Given the description of an element on the screen output the (x, y) to click on. 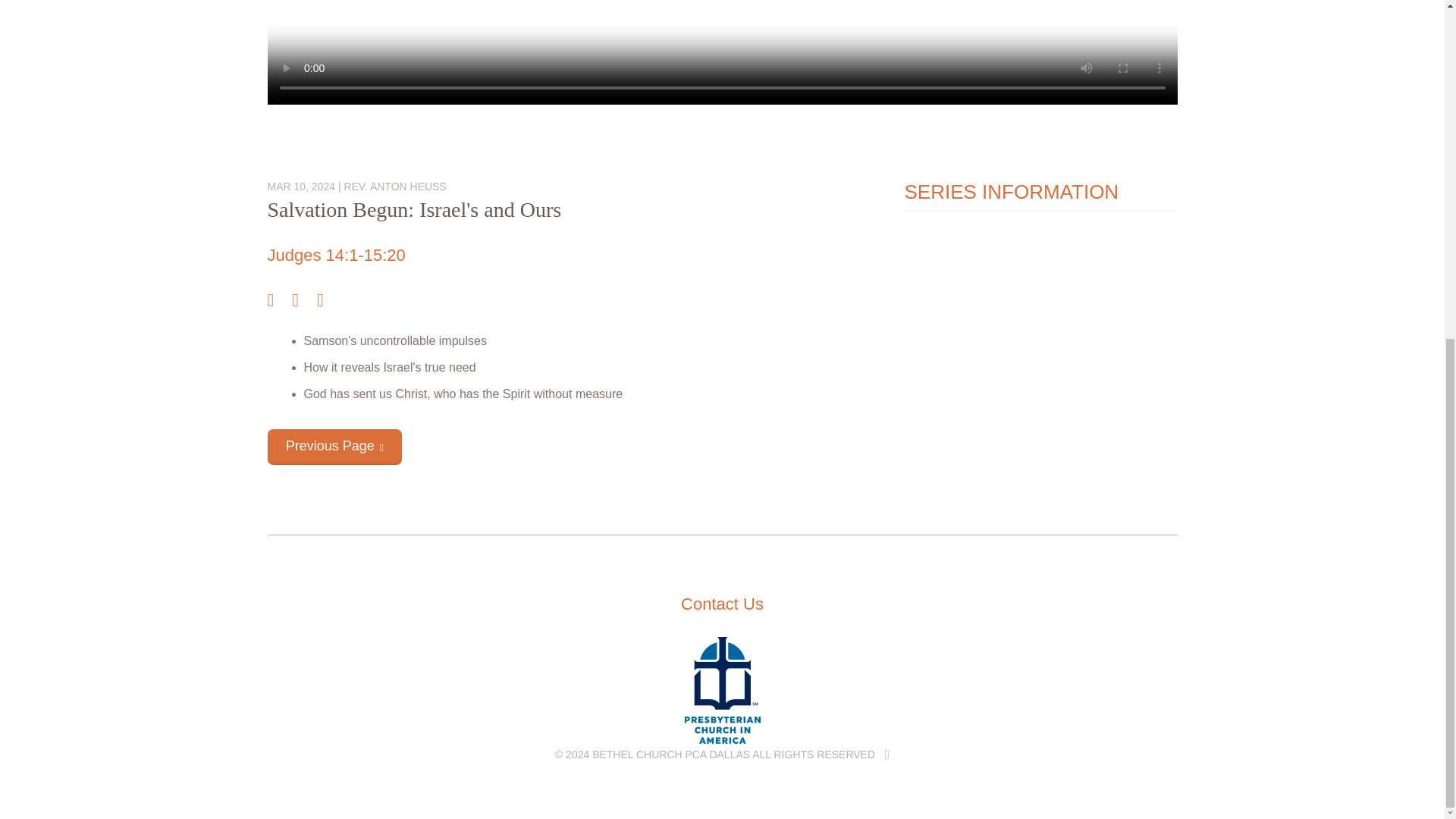
Contact Us (721, 604)
Powered by Ekklesia 360 (887, 755)
Presbyterian Church in America (722, 739)
